Given the description of an element on the screen output the (x, y) to click on. 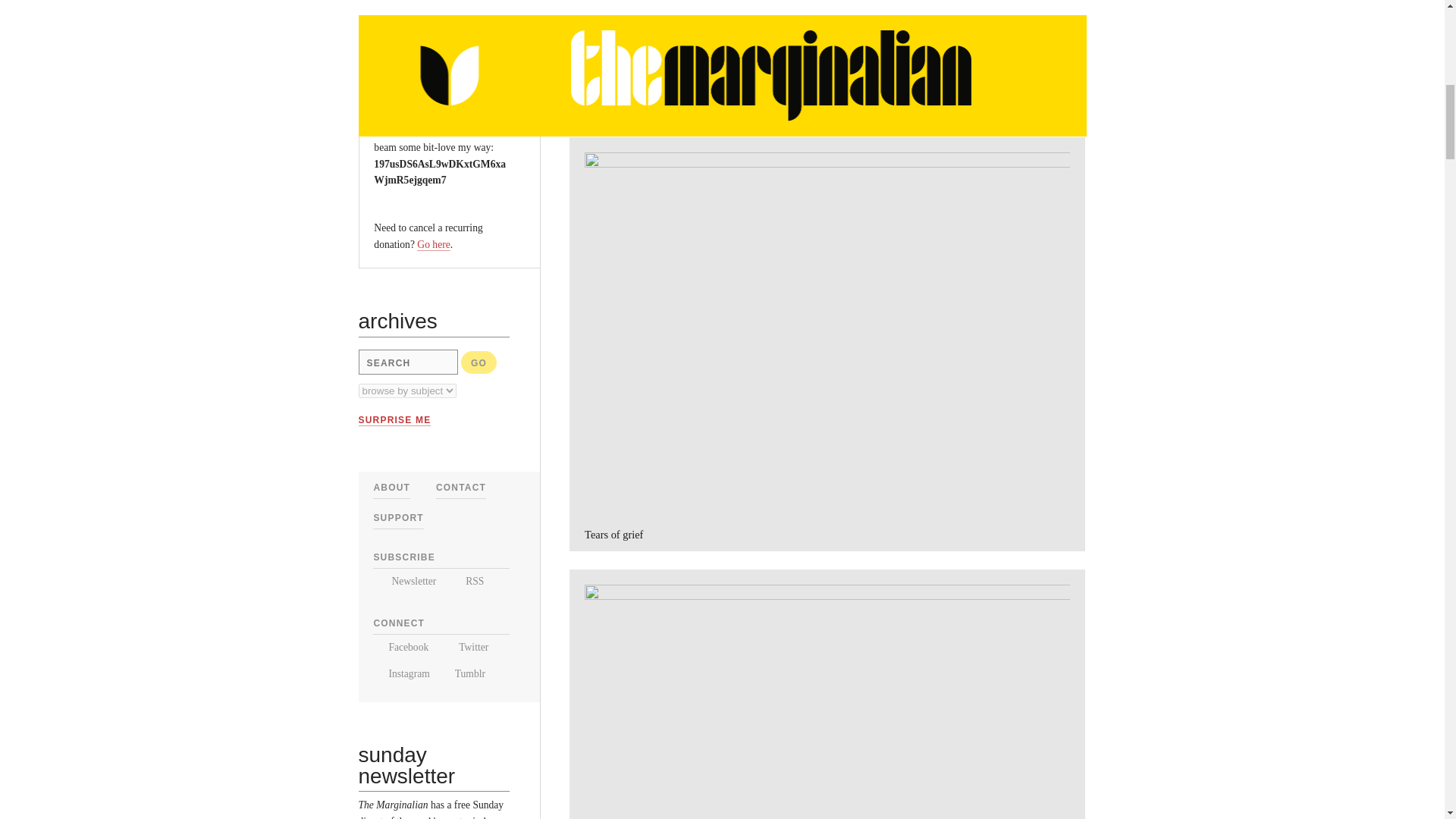
Twitter (464, 646)
ABOUT (391, 487)
GIVE NOW (410, 53)
Newsletter (403, 581)
Tumblr (464, 673)
SURPRISE ME (394, 419)
Facebook (400, 646)
SUPPORT (397, 517)
Go here (432, 244)
RSS (466, 581)
Go (478, 362)
CONTACT (460, 487)
Instagram (400, 673)
Go (478, 362)
